Given the description of an element on the screen output the (x, y) to click on. 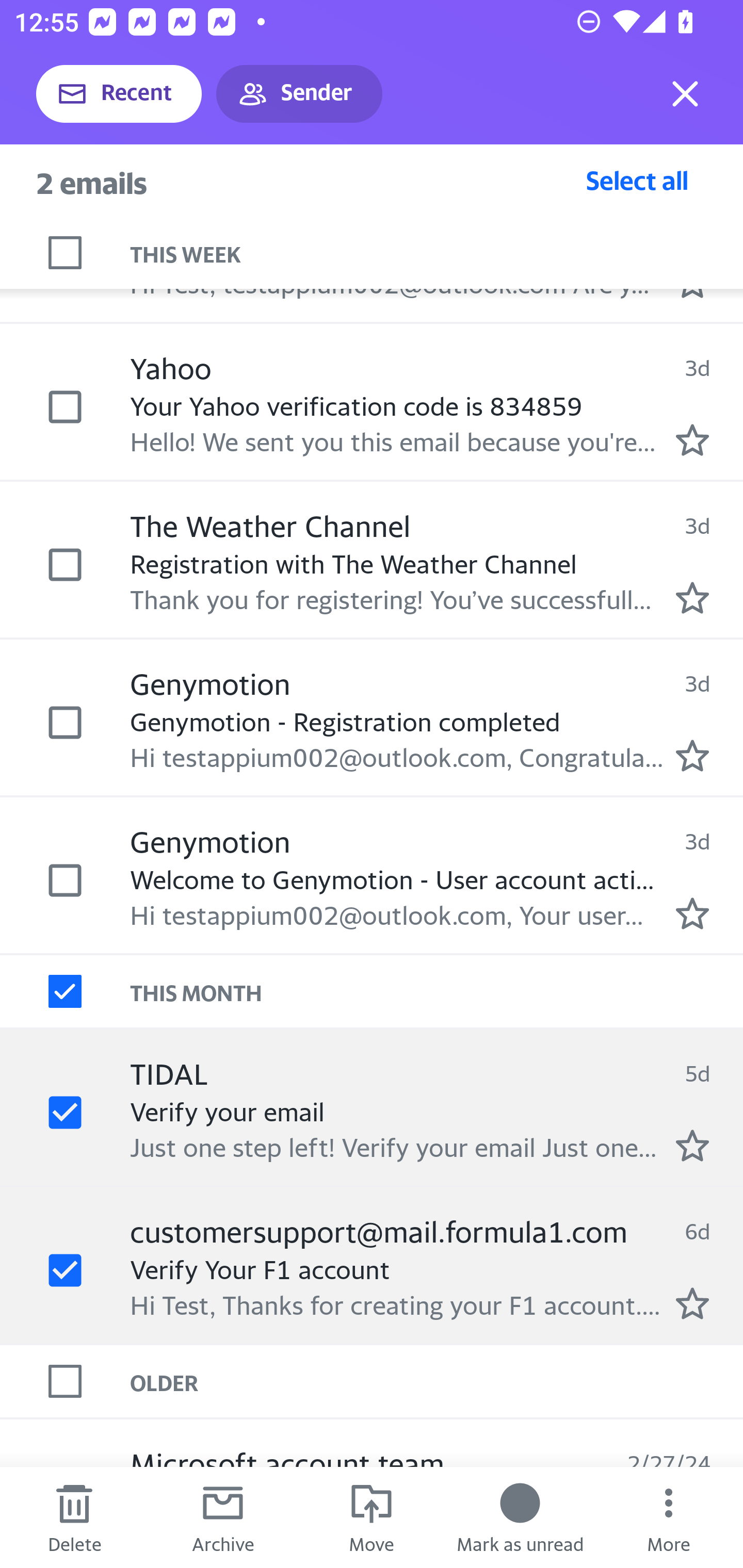
Sender (299, 93)
Exit selection mode (684, 93)
Select all (637, 180)
Mark as starred. (692, 439)
Mark as starred. (692, 598)
Mark as starred. (692, 754)
Mark as starred. (692, 913)
THIS MONTH (436, 991)
Mark as starred. (692, 1145)
Mark as starred. (692, 1303)
OLDER (436, 1380)
Delete (74, 1517)
Archive (222, 1517)
Move (371, 1517)
Mark as unread (519, 1517)
More (668, 1517)
